Given the description of an element on the screen output the (x, y) to click on. 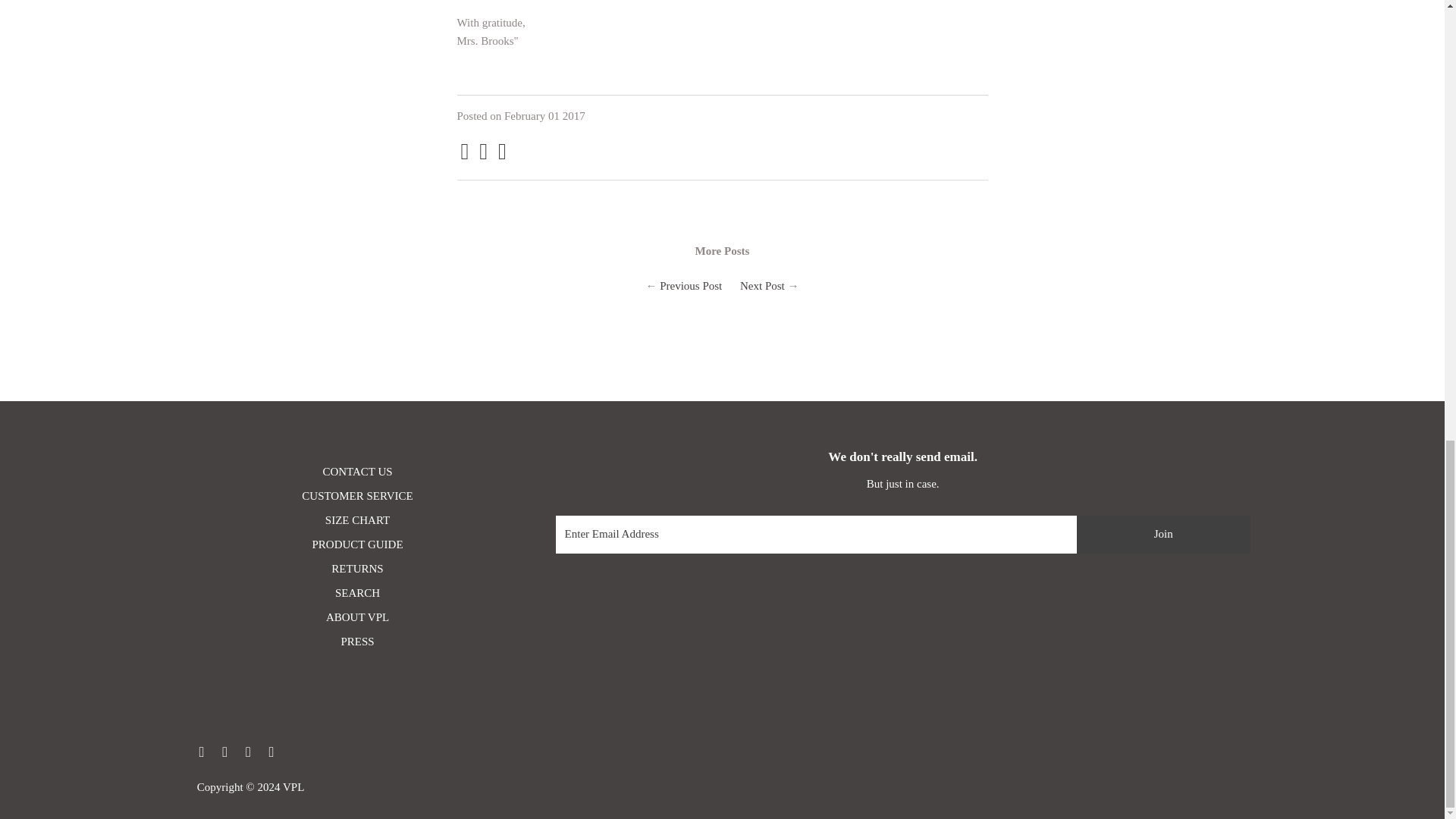
Join (1163, 534)
